Given the description of an element on the screen output the (x, y) to click on. 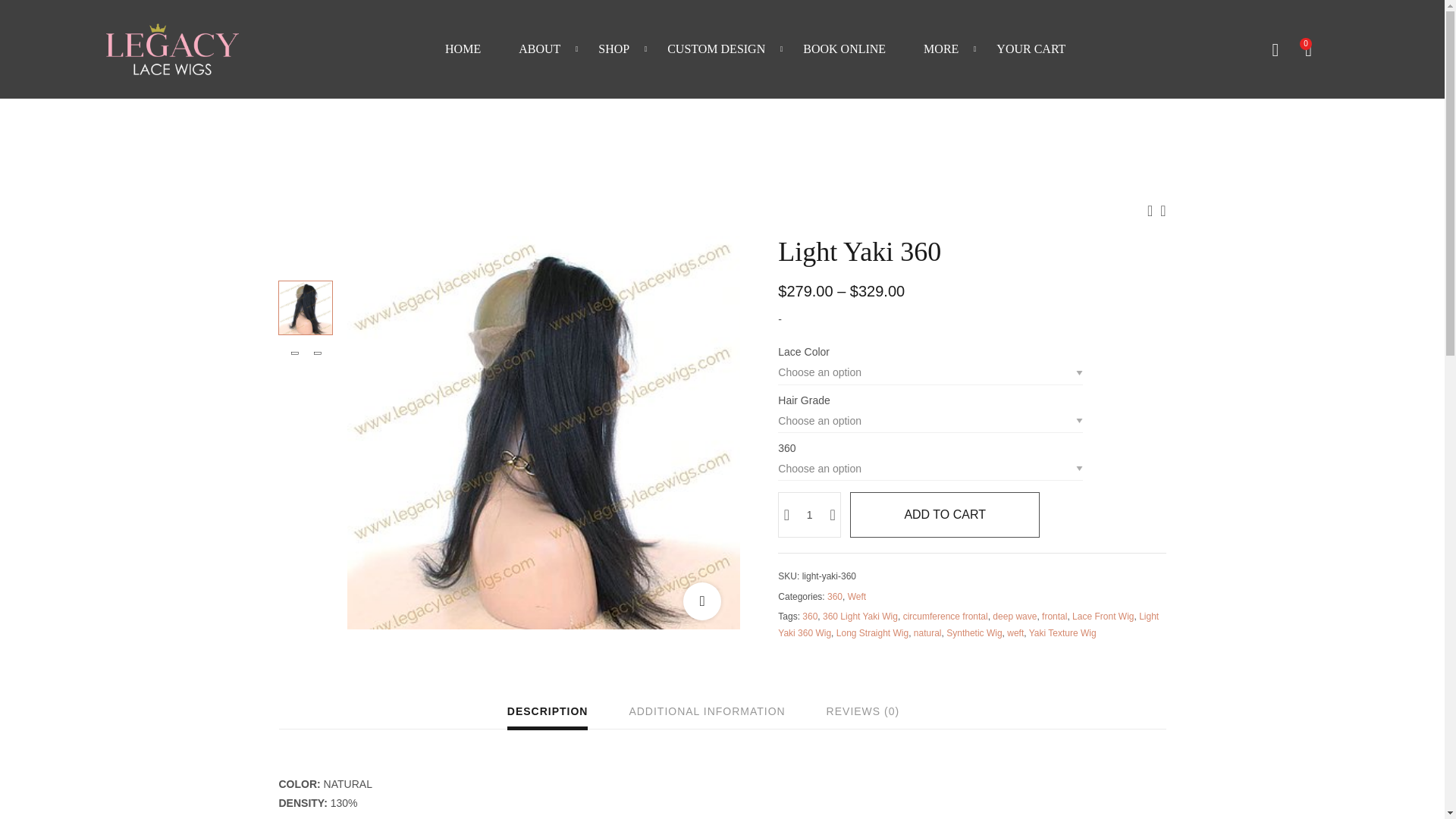
CUSTOM DESIGN (715, 49)
BOOK ONLINE (844, 49)
YOUR CART (1030, 49)
